Given the description of an element on the screen output the (x, y) to click on. 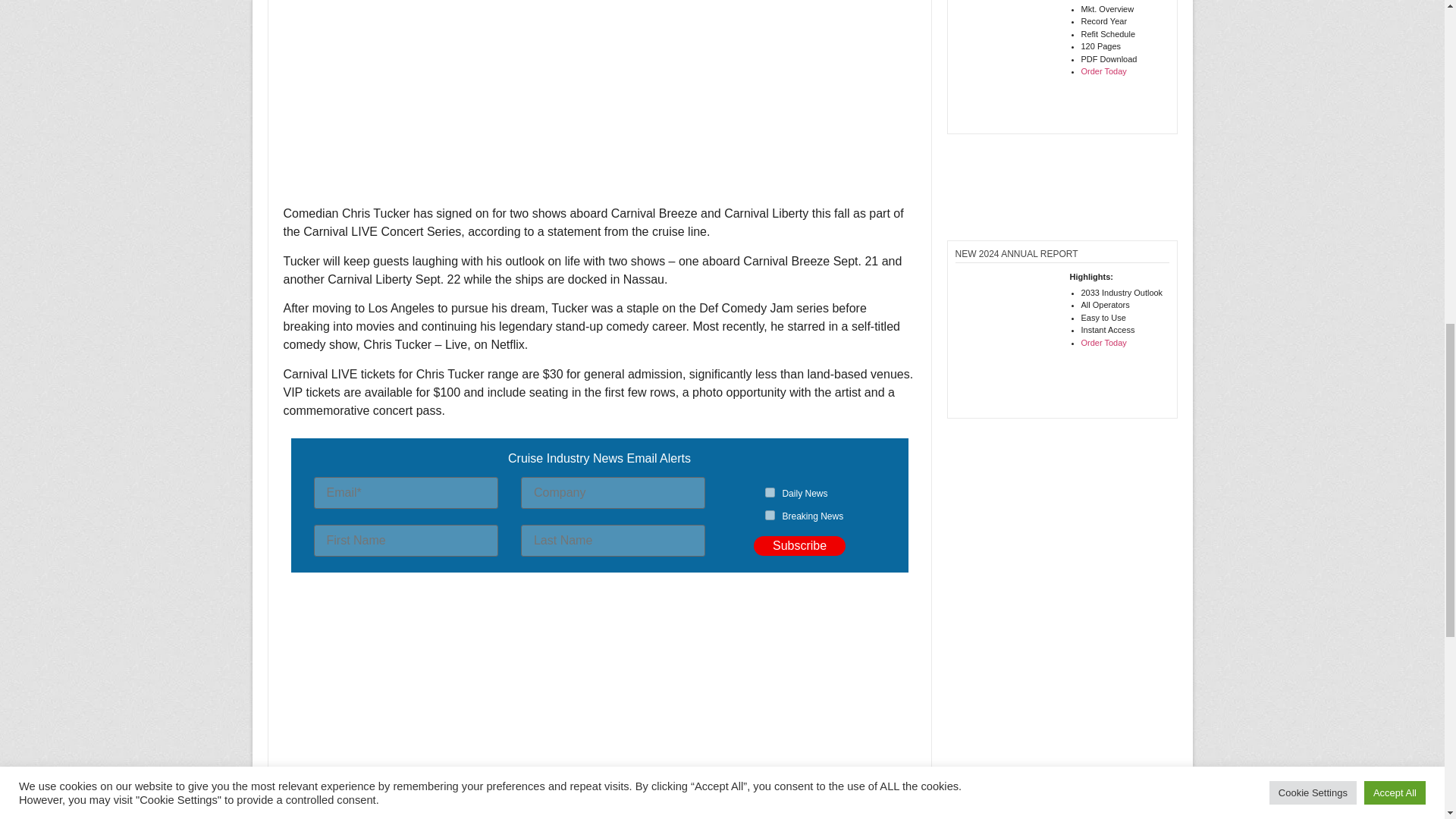
Subscribe (799, 546)
1 (769, 492)
2 (769, 515)
